Given the description of an element on the screen output the (x, y) to click on. 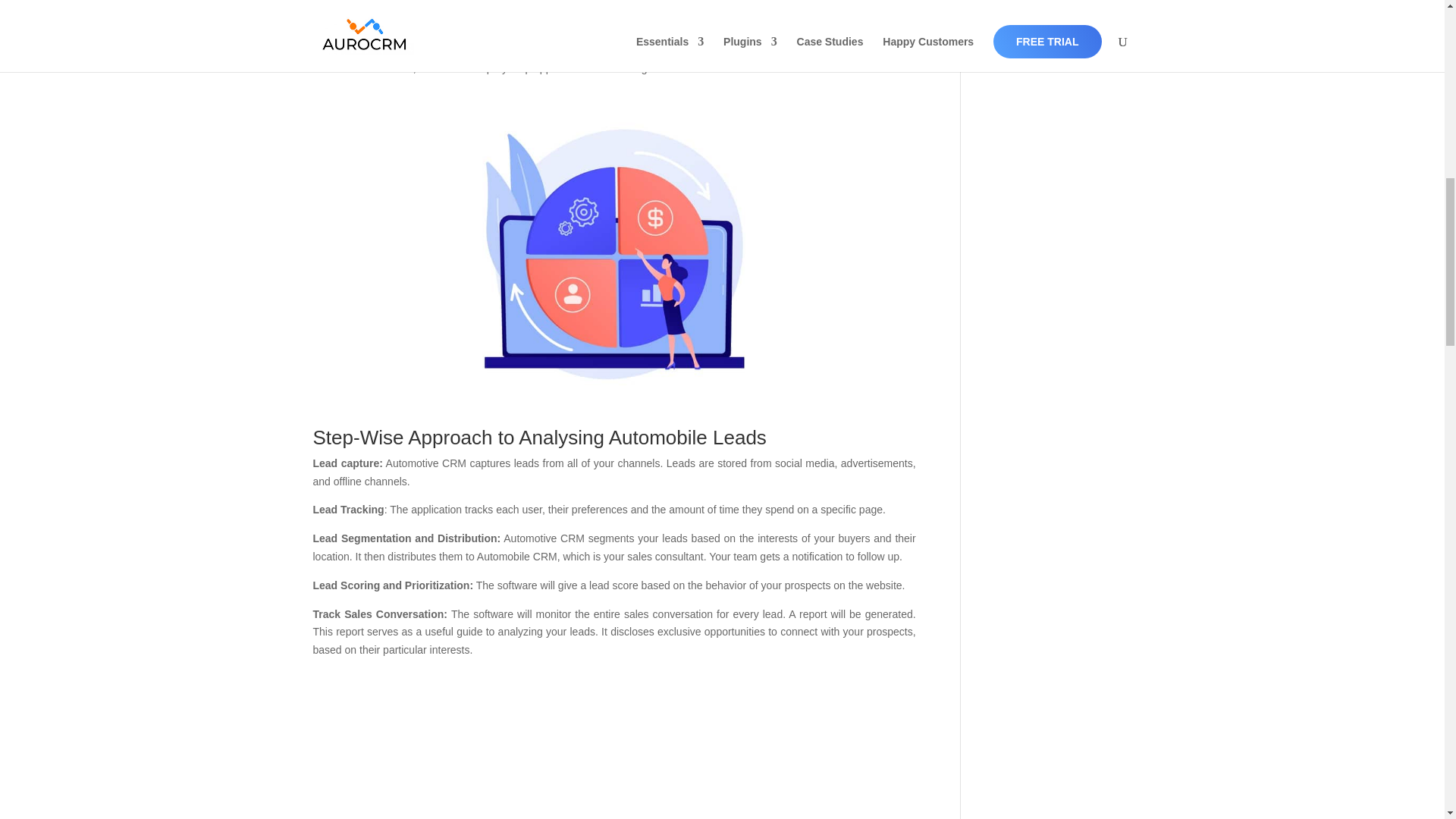
Automobile CRM (402, 21)
